Given the description of an element on the screen output the (x, y) to click on. 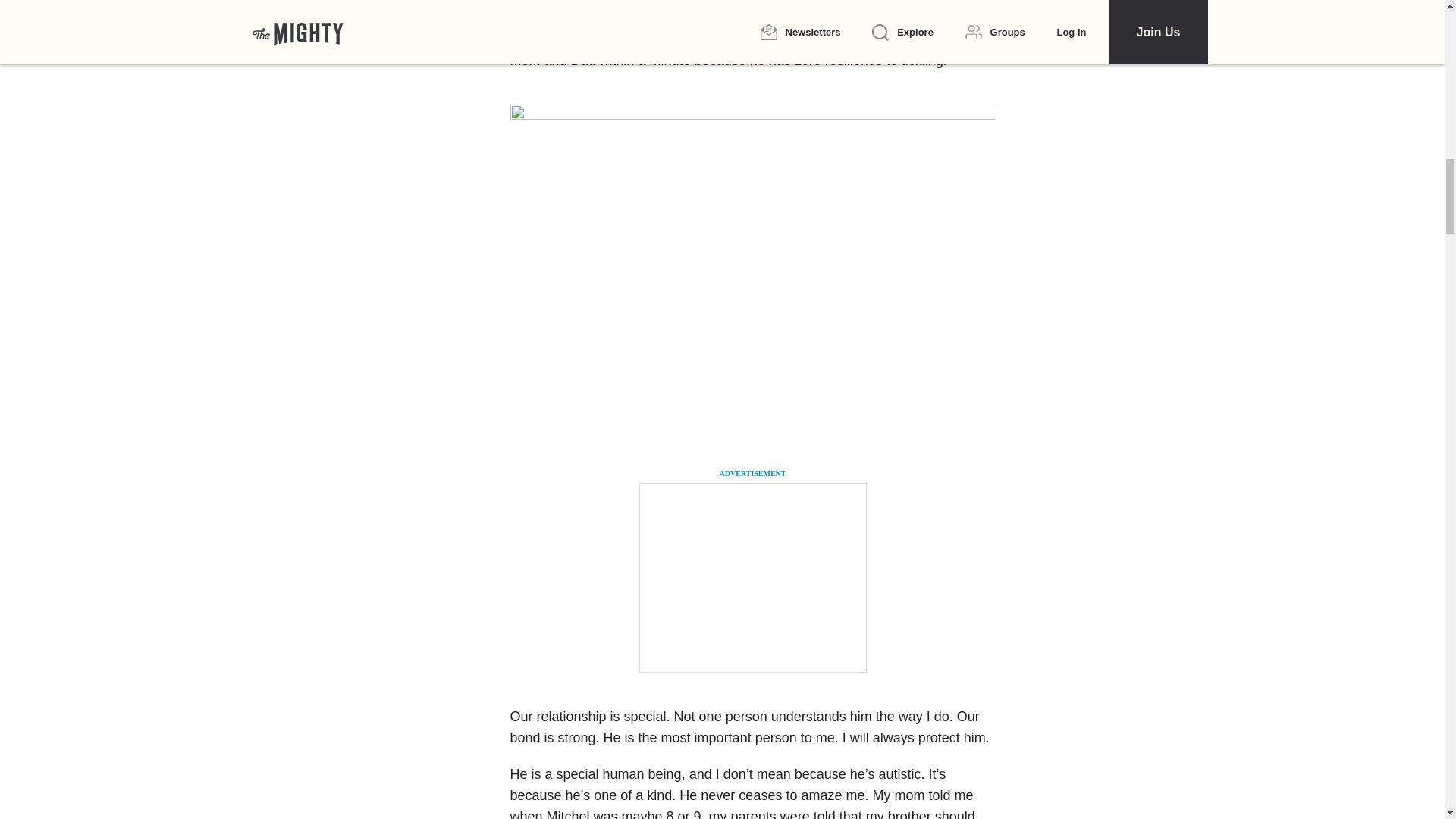
ADVERTISEMENT (752, 473)
